Given the description of an element on the screen output the (x, y) to click on. 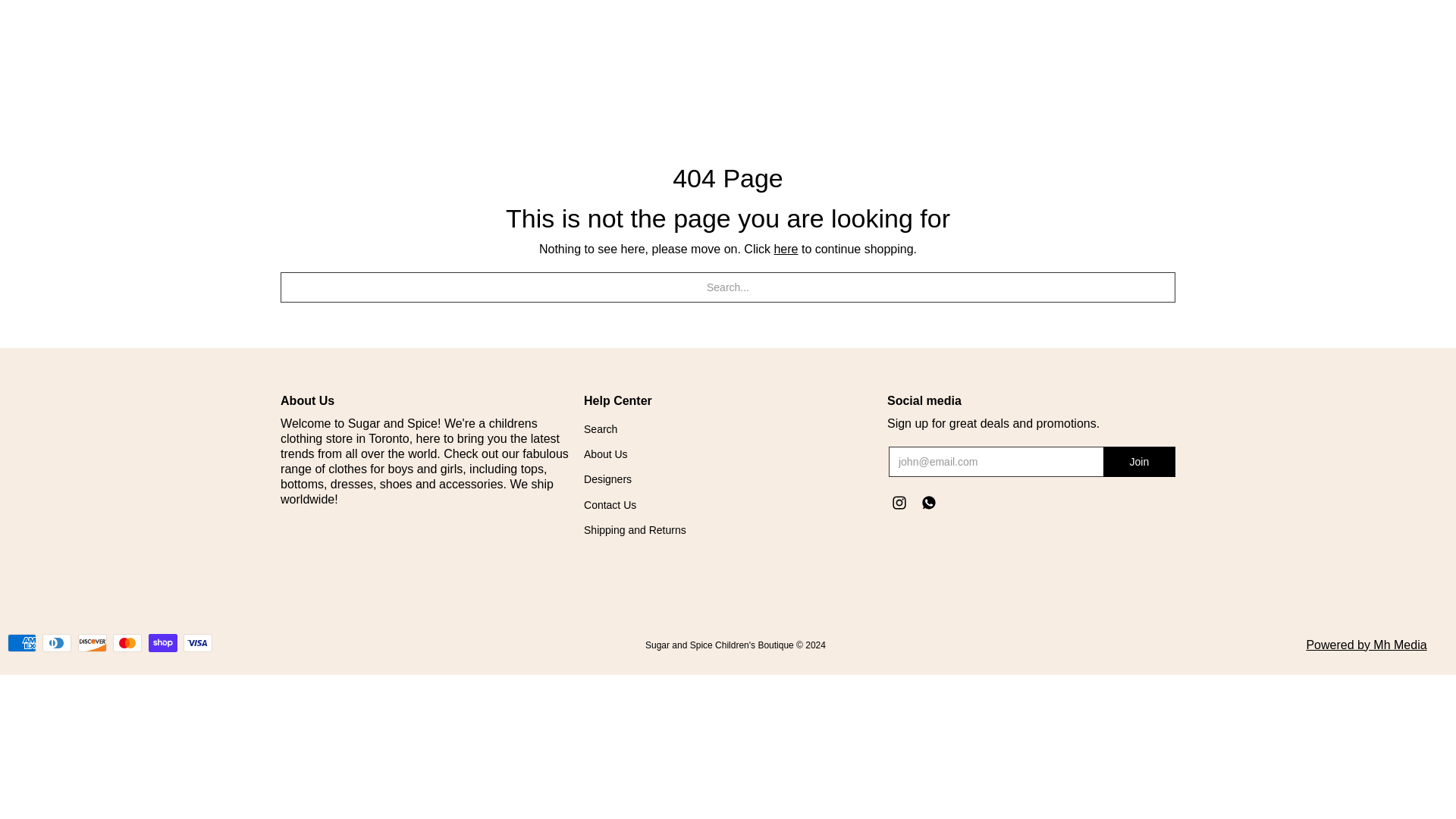
Diners Club (56, 642)
Mastercard (127, 642)
Shop Pay (162, 642)
Discover (92, 642)
Visa (197, 642)
American Express (21, 642)
